Given the description of an element on the screen output the (x, y) to click on. 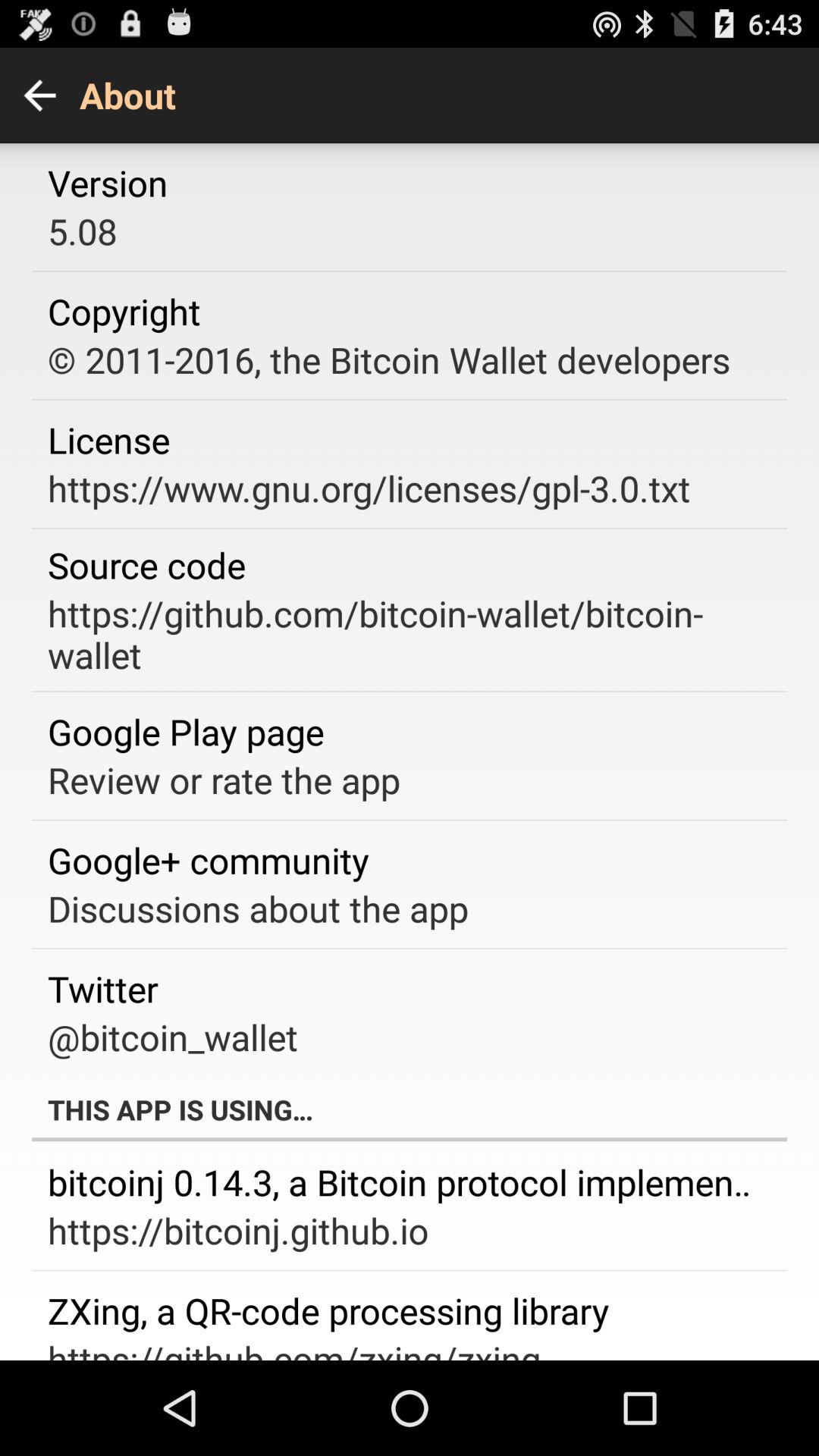
turn on the icon above the google+ community item (223, 779)
